Given the description of an element on the screen output the (x, y) to click on. 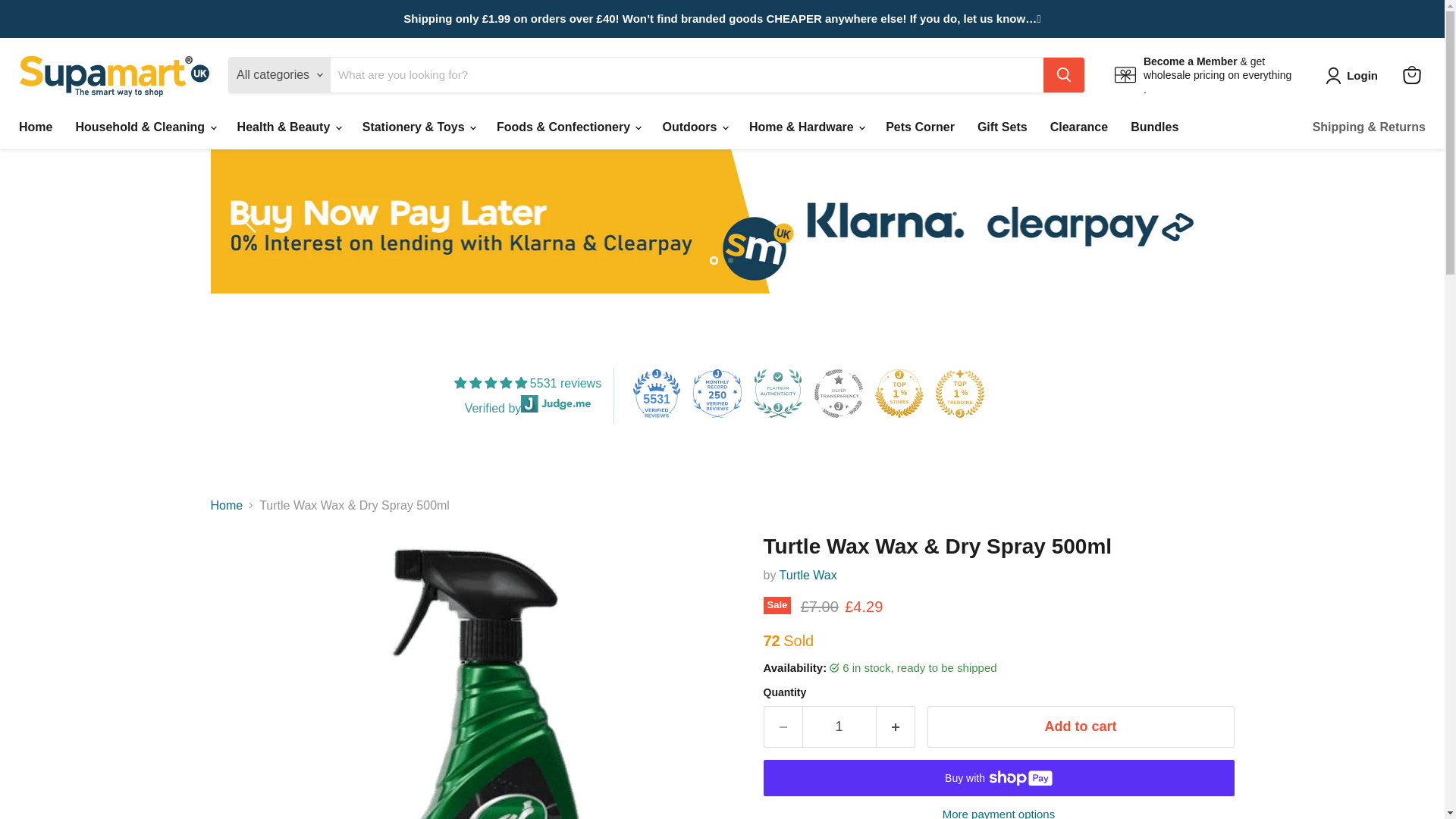
Home (35, 127)
1 (839, 726)
Login (1354, 75)
Turtle Wax (807, 574)
View cart (1411, 74)
